Given the description of an element on the screen output the (x, y) to click on. 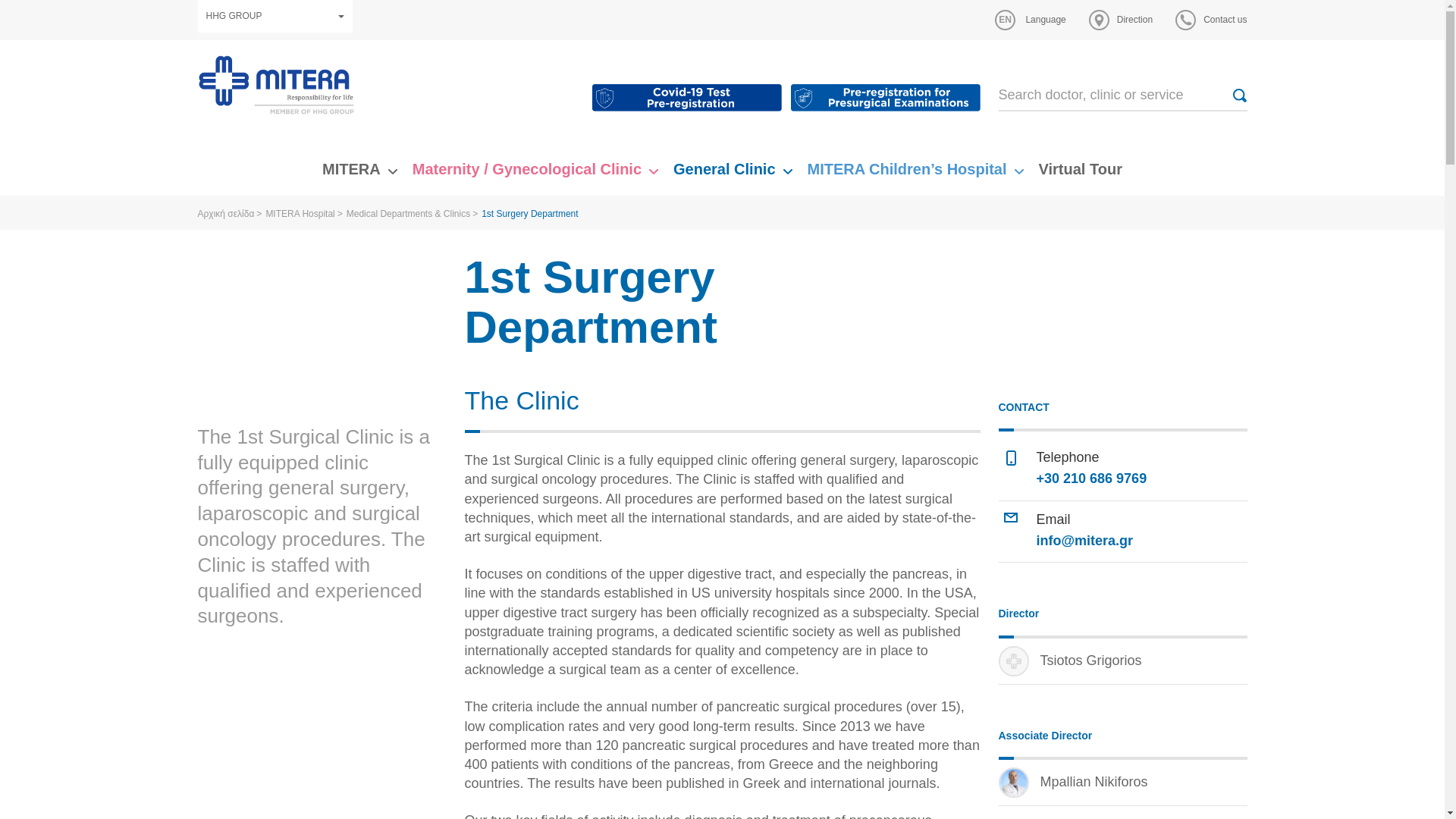
Contact us (1210, 19)
MITERA (349, 169)
Language (1029, 19)
HHG GROUP (274, 16)
Direction (1121, 19)
